Given the description of an element on the screen output the (x, y) to click on. 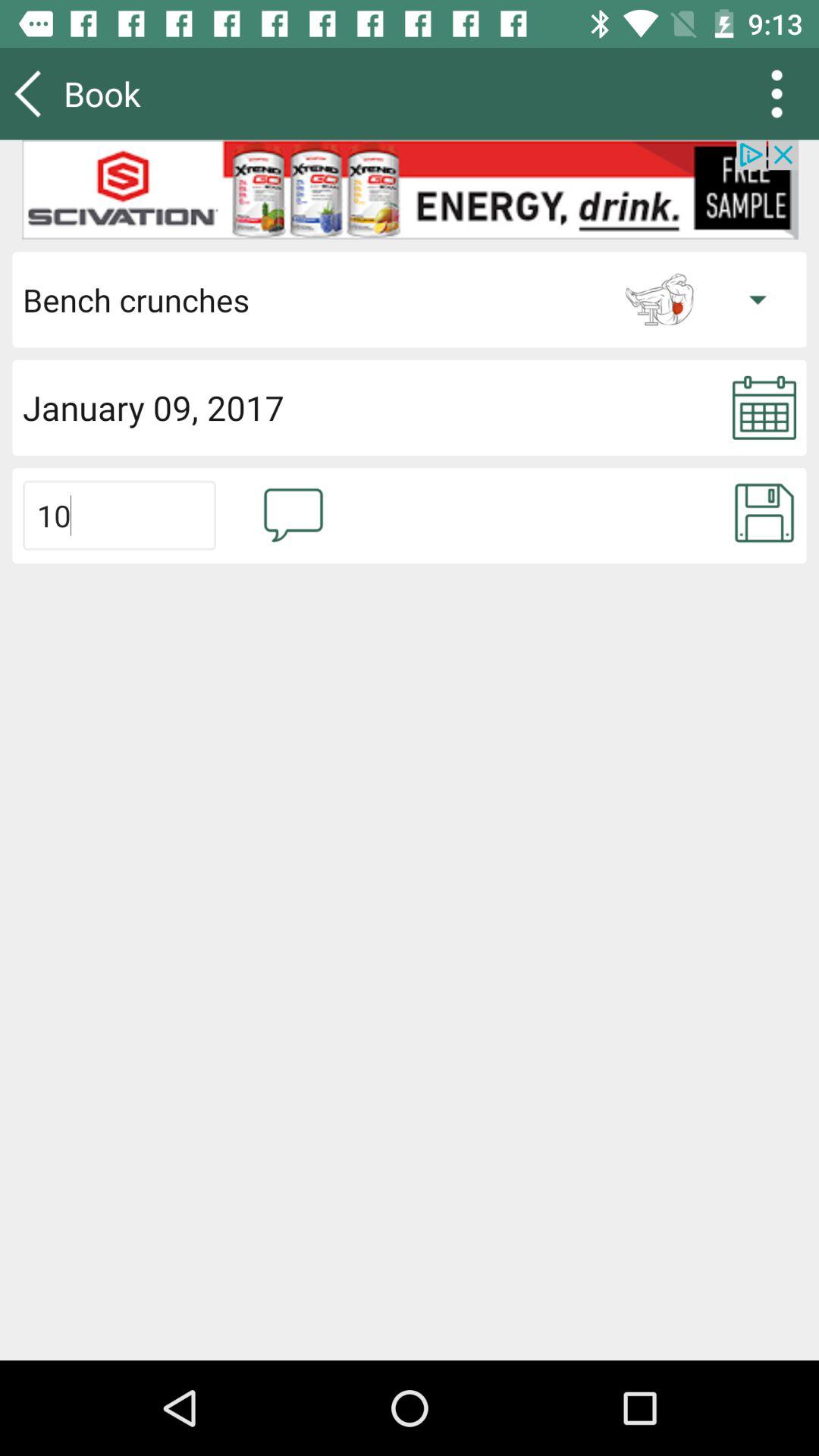
open an advertisements (409, 189)
